Given the description of an element on the screen output the (x, y) to click on. 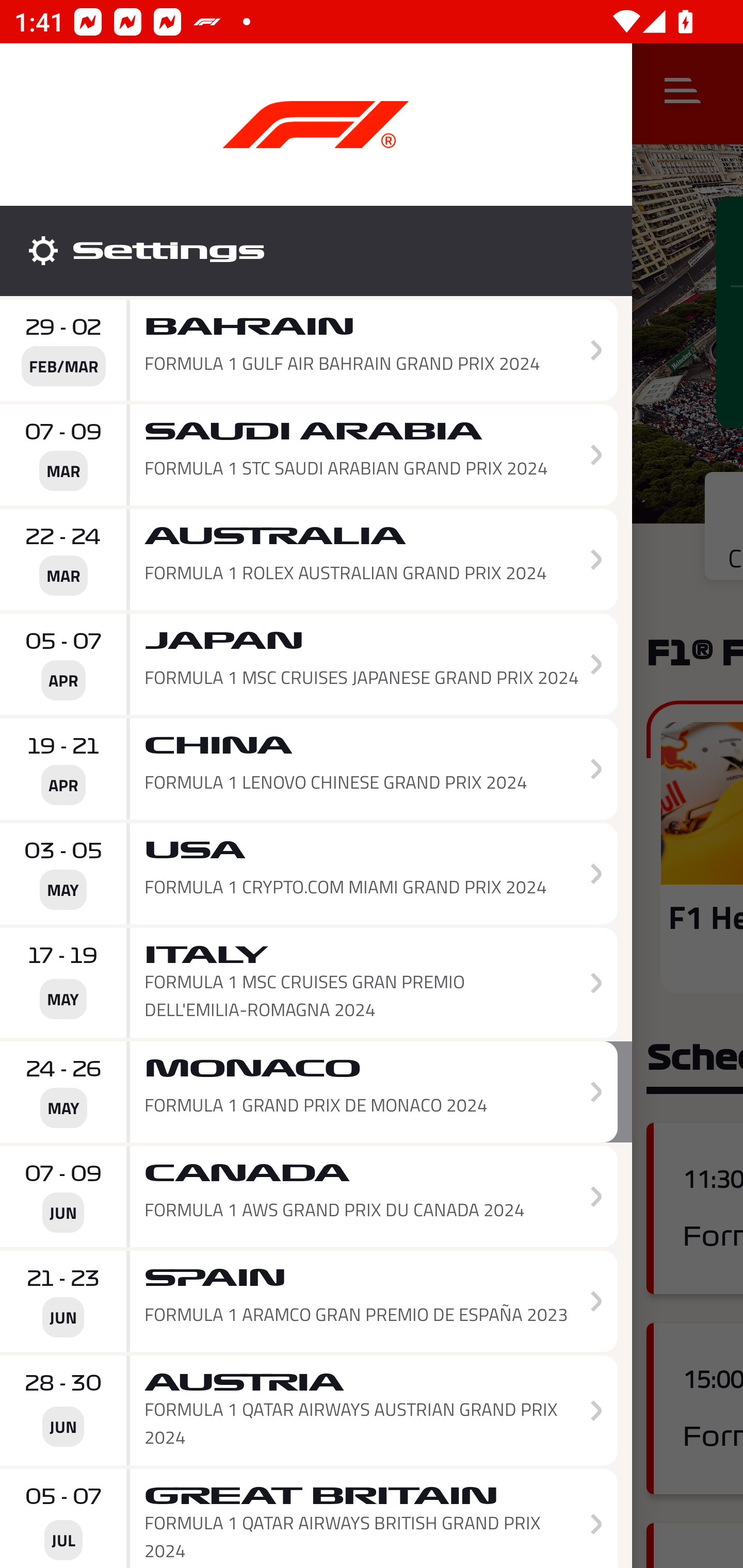
Settings (316, 250)
